Given the description of an element on the screen output the (x, y) to click on. 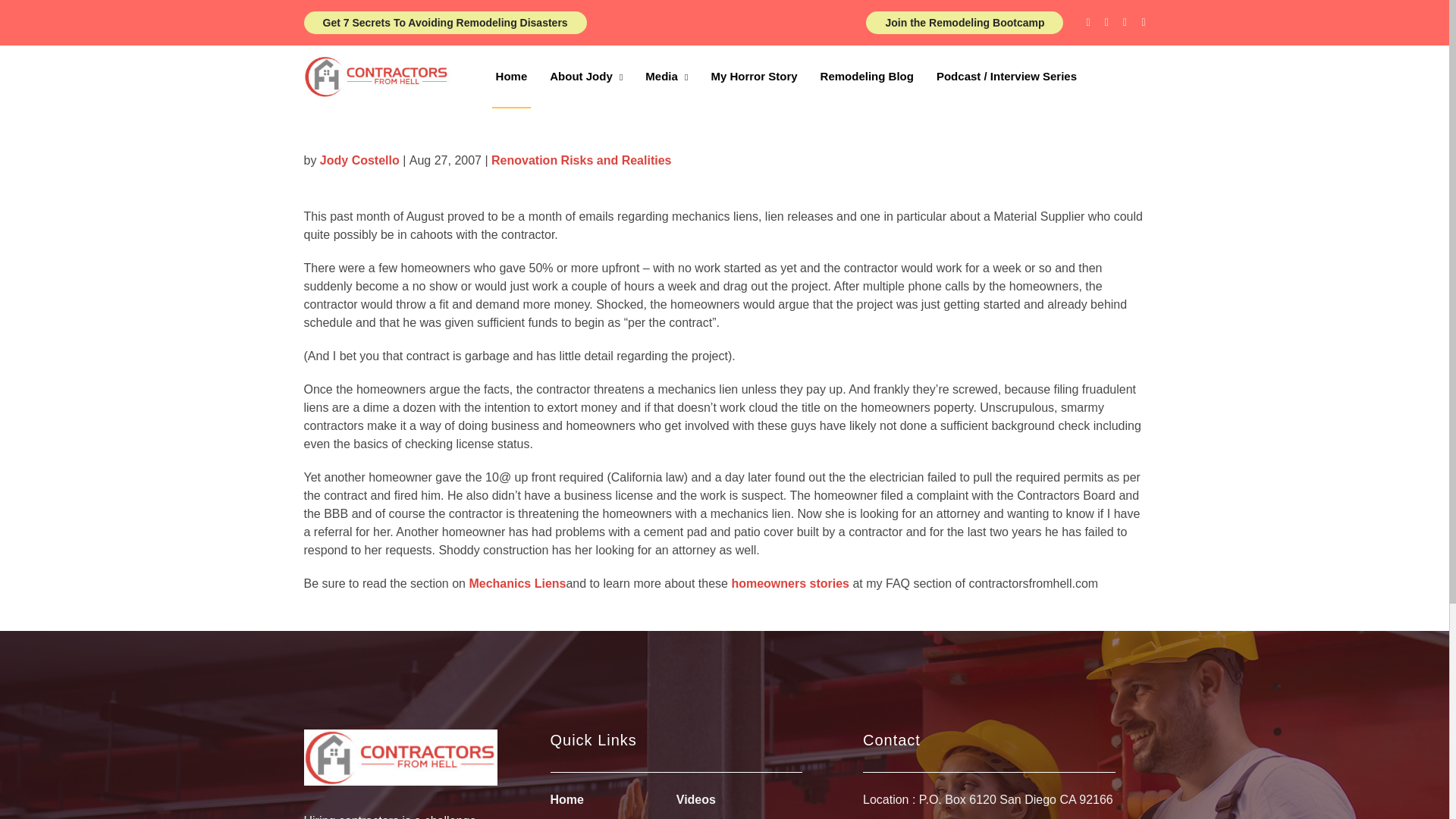
My Horror Story (753, 76)
homeowners stories (789, 583)
Jody Costello (359, 160)
Get 7 Secrets To Avoiding Remodeling Disasters (444, 22)
About Jody (586, 76)
Mechanics Liens (517, 583)
Remodeling Blog (866, 76)
Posts by Jody Costello (359, 160)
Home (566, 800)
Videos (696, 800)
